Given the description of an element on the screen output the (x, y) to click on. 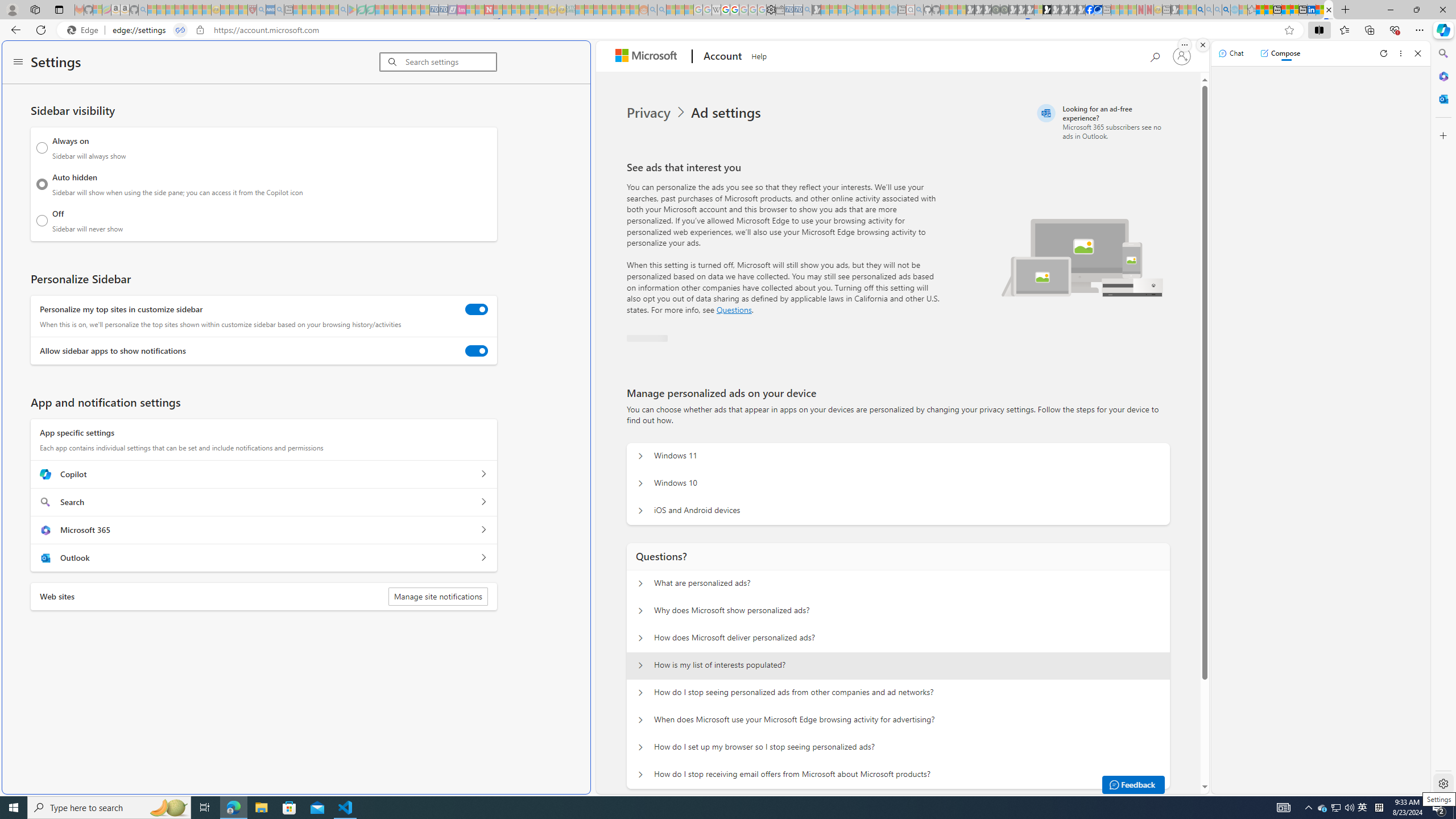
Target page - Wikipedia - Sleeping (716, 9)
Search settings (451, 61)
The Weather Channel - MSN - Sleeping (170, 9)
